Given the description of an element on the screen output the (x, y) to click on. 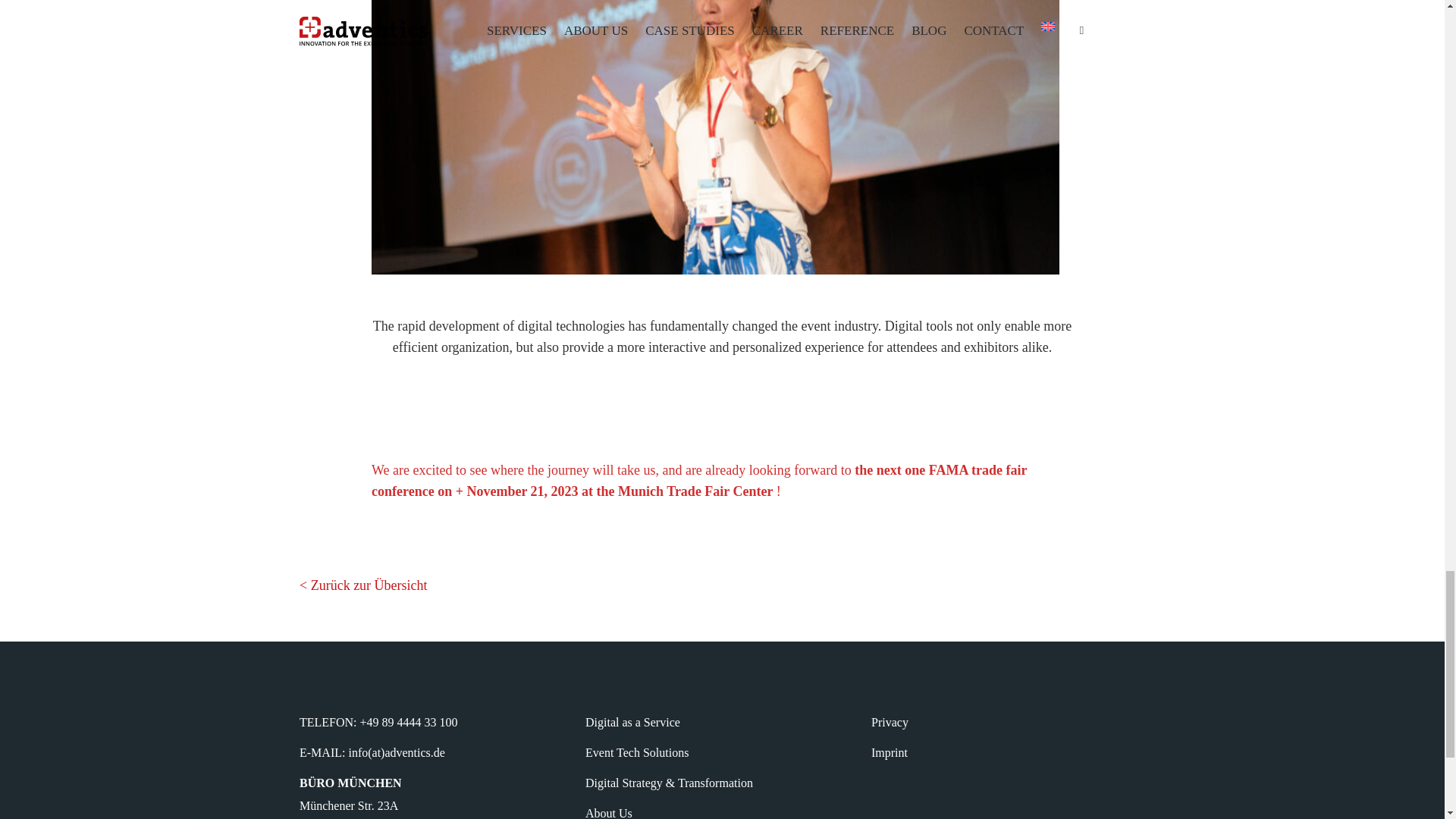
Imprint (888, 752)
Privacy (889, 721)
About Us (608, 812)
Event Tech Solutions (636, 752)
Digital as a Service (632, 721)
